Given the description of an element on the screen output the (x, y) to click on. 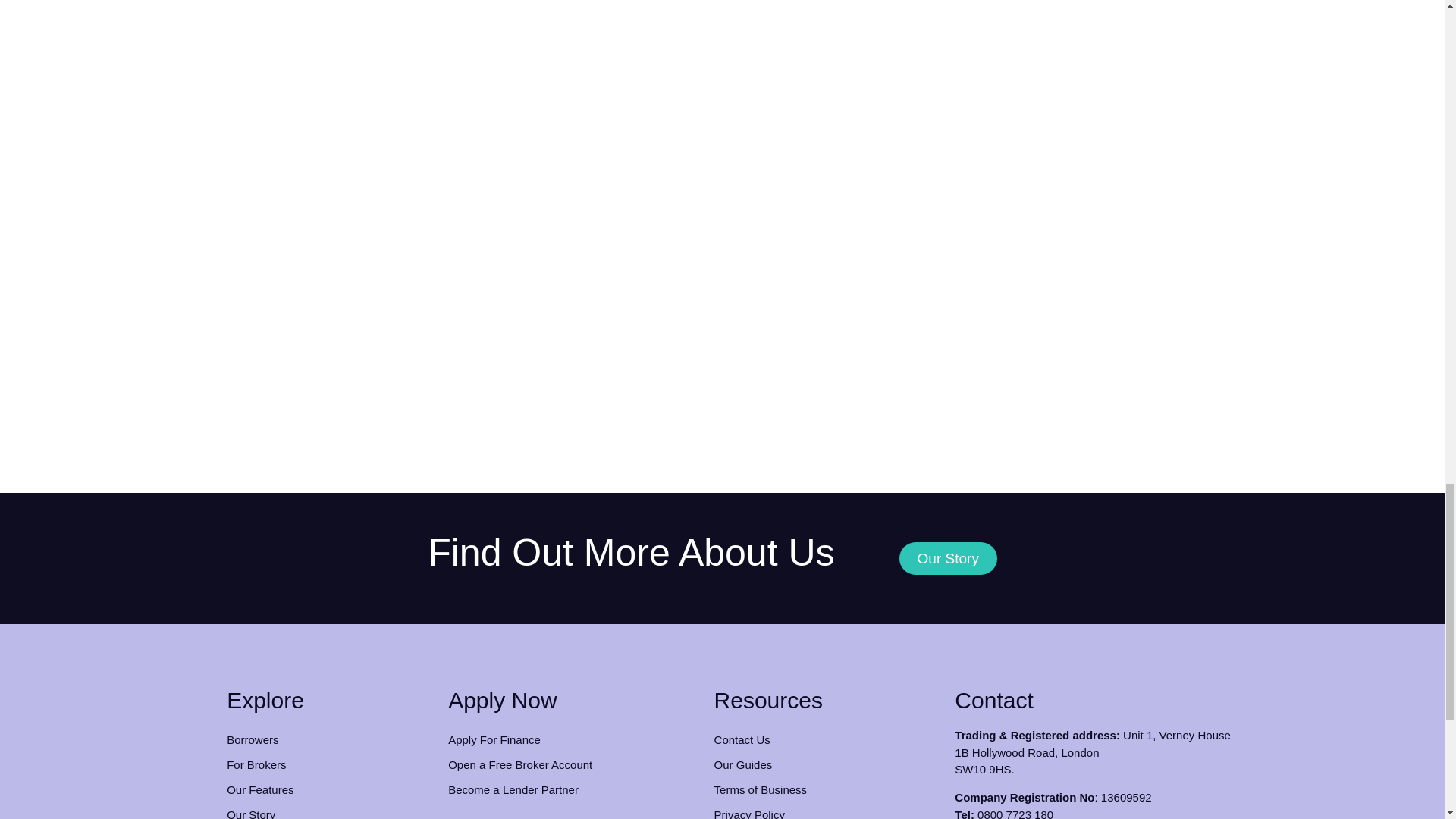
Borrowers (329, 739)
For Brokers (329, 764)
Our Features (329, 789)
Our Story (329, 810)
Our Story (948, 558)
